Given the description of an element on the screen output the (x, y) to click on. 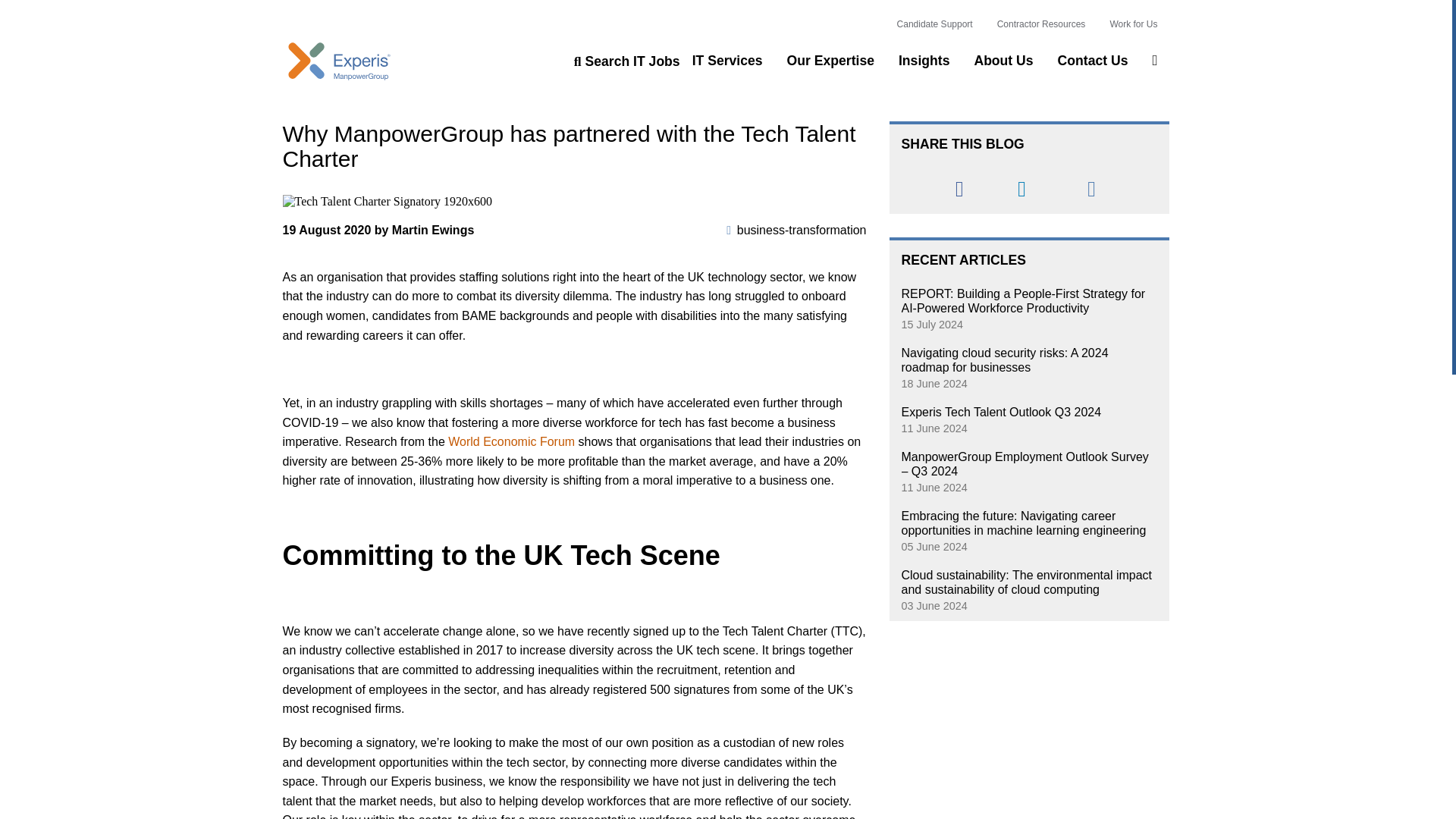
Experis UK logo (339, 61)
Insights (923, 60)
Work for Us (1133, 23)
Contact Us (1093, 60)
About Us (1003, 60)
Contractor Resources (1041, 23)
Our Expertise (831, 60)
IT Services (727, 60)
Candidate Support (934, 23)
Email (1091, 188)
Search IT Jobs (626, 60)
